Given the description of an element on the screen output the (x, y) to click on. 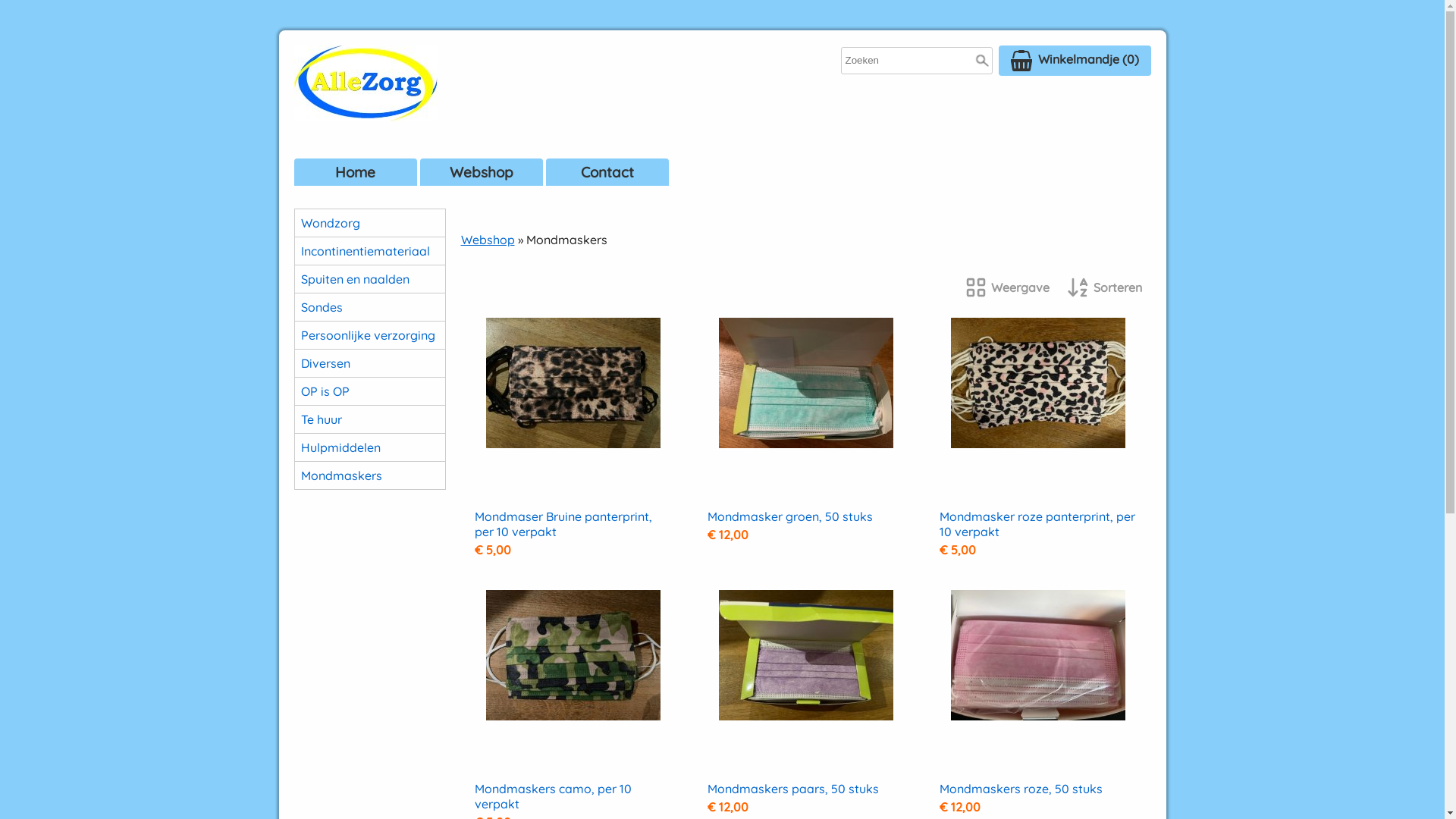
Weergave Element type: text (1006, 288)
Home Element type: text (355, 171)
WinkelmandjeWinkelmandje (0) Element type: text (1073, 60)
Spuiten en naalden Element type: text (369, 278)
Webshop Element type: text (487, 239)
Webshop Element type: text (481, 171)
OP is OP Element type: text (369, 390)
Sondes Element type: text (369, 306)
Hulpmiddelen Element type: text (369, 447)
Diversen Element type: text (369, 362)
Persoonlijke verzorging Element type: text (369, 334)
Mondmaskers Element type: text (369, 475)
Te huur Element type: text (369, 419)
Contact Element type: text (607, 171)
Sorteren Element type: text (1104, 288)
Incontinentiemateriaal Element type: text (369, 250)
Wondzorg Element type: text (369, 222)
